Given the description of an element on the screen output the (x, y) to click on. 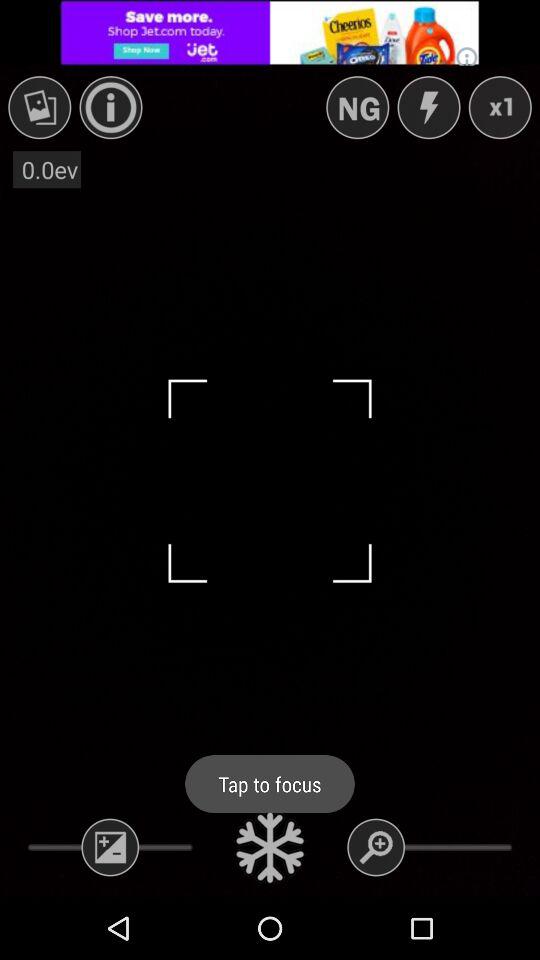
tap to focus (269, 847)
